Given the description of an element on the screen output the (x, y) to click on. 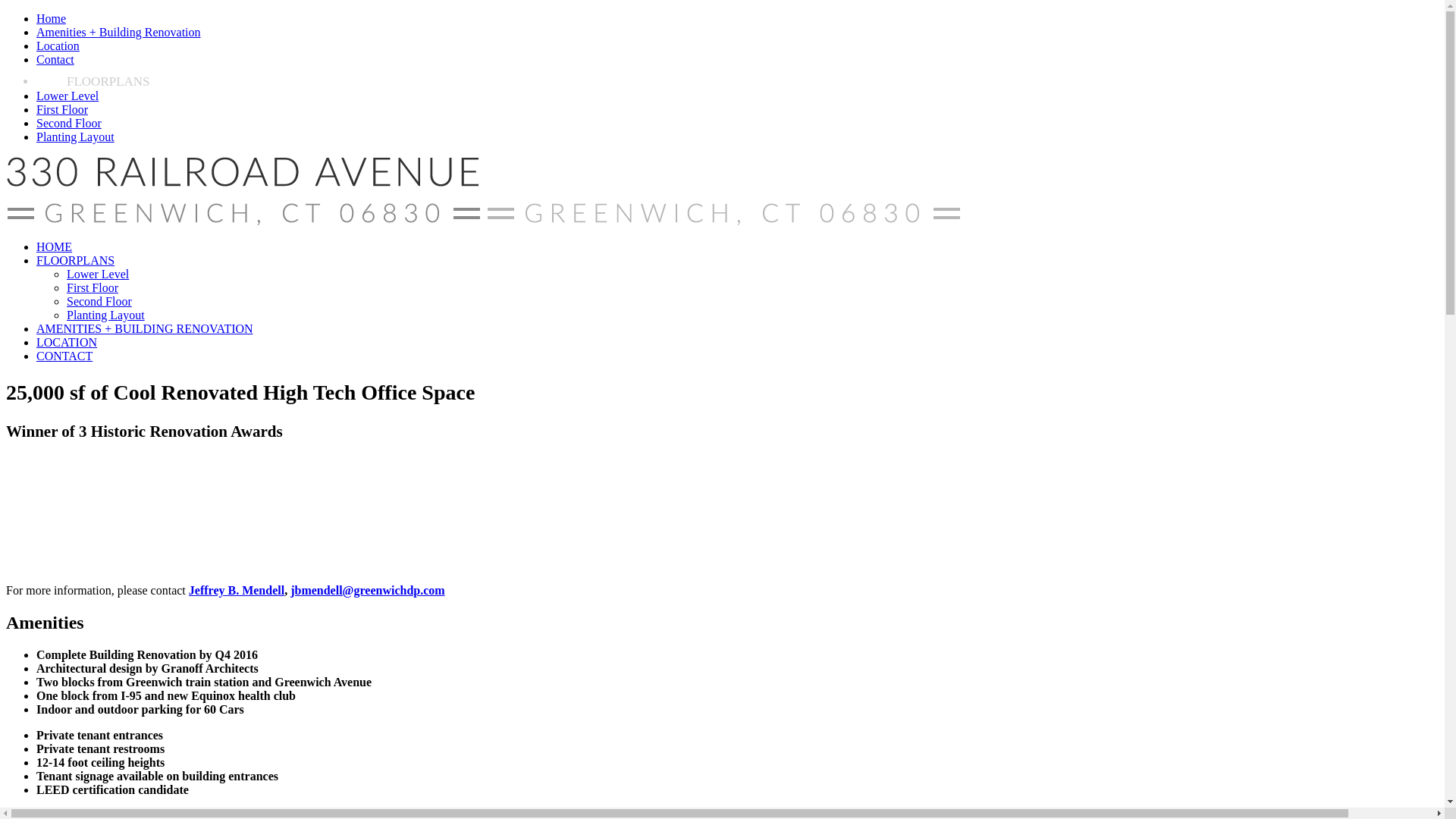
Home Element type: text (50, 18)
LOCATION Element type: text (66, 341)
Jeffrey B. Mendell Element type: text (236, 589)
Location Element type: text (57, 45)
Contact Element type: text (55, 59)
FLOORPLANS Element type: text (75, 260)
jbmendell@greenwichdp.com Element type: text (367, 589)
Planting Layout Element type: text (75, 136)
Second Floor Element type: text (68, 122)
Lower Level Element type: text (67, 95)
First Floor Element type: text (92, 287)
Lower Level Element type: text (97, 273)
CONTACT Element type: text (64, 355)
Planting Layout Element type: text (105, 314)
HOME Element type: text (54, 246)
Amenities + Building Renovation Element type: text (118, 31)
First Floor Element type: text (61, 109)
AMENITIES + BUILDING RENOVATION Element type: text (144, 328)
Second Floor Element type: text (98, 300)
